Given the description of an element on the screen output the (x, y) to click on. 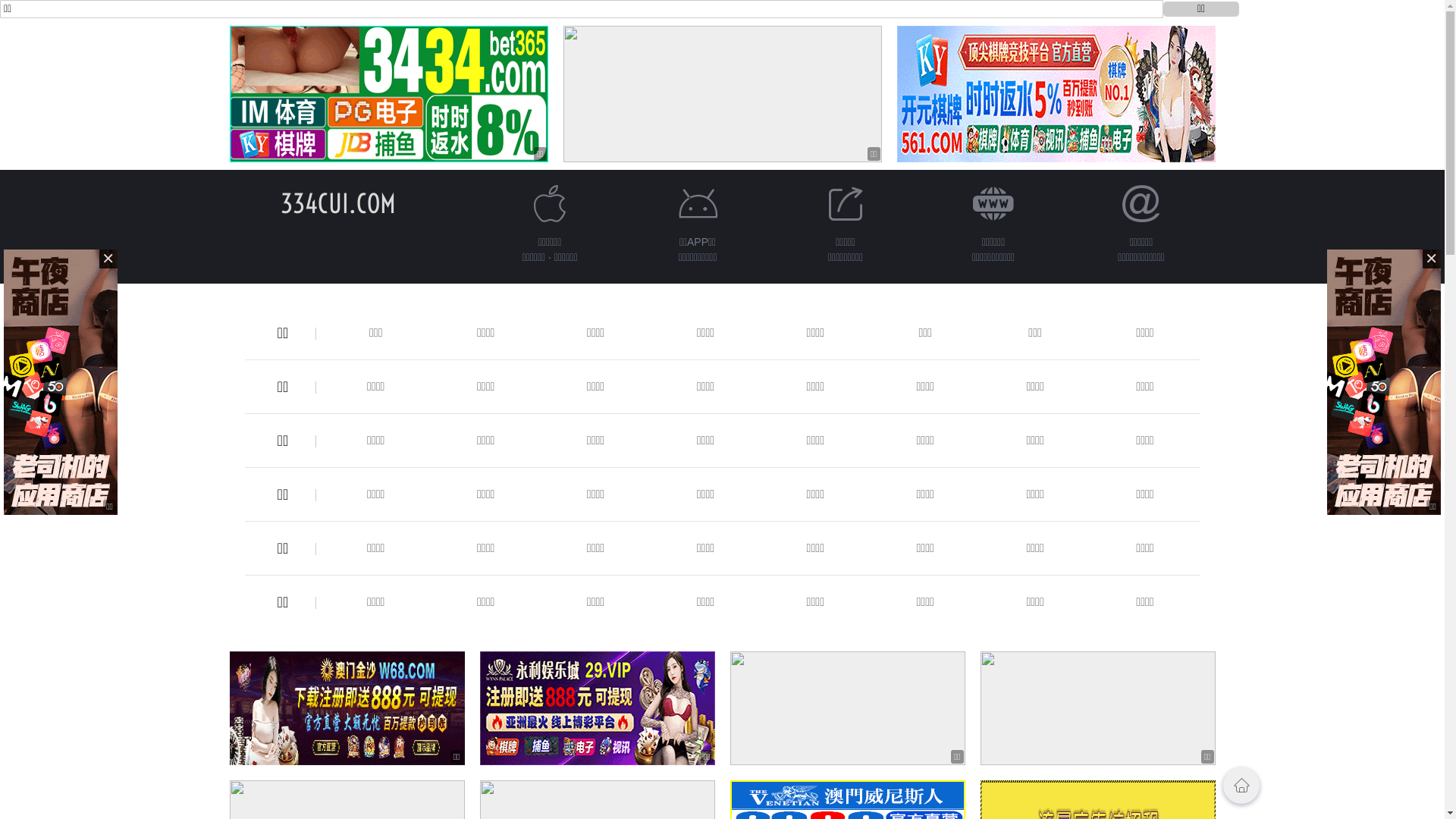
334CUI.COM Element type: text (337, 203)
